Given the description of an element on the screen output the (x, y) to click on. 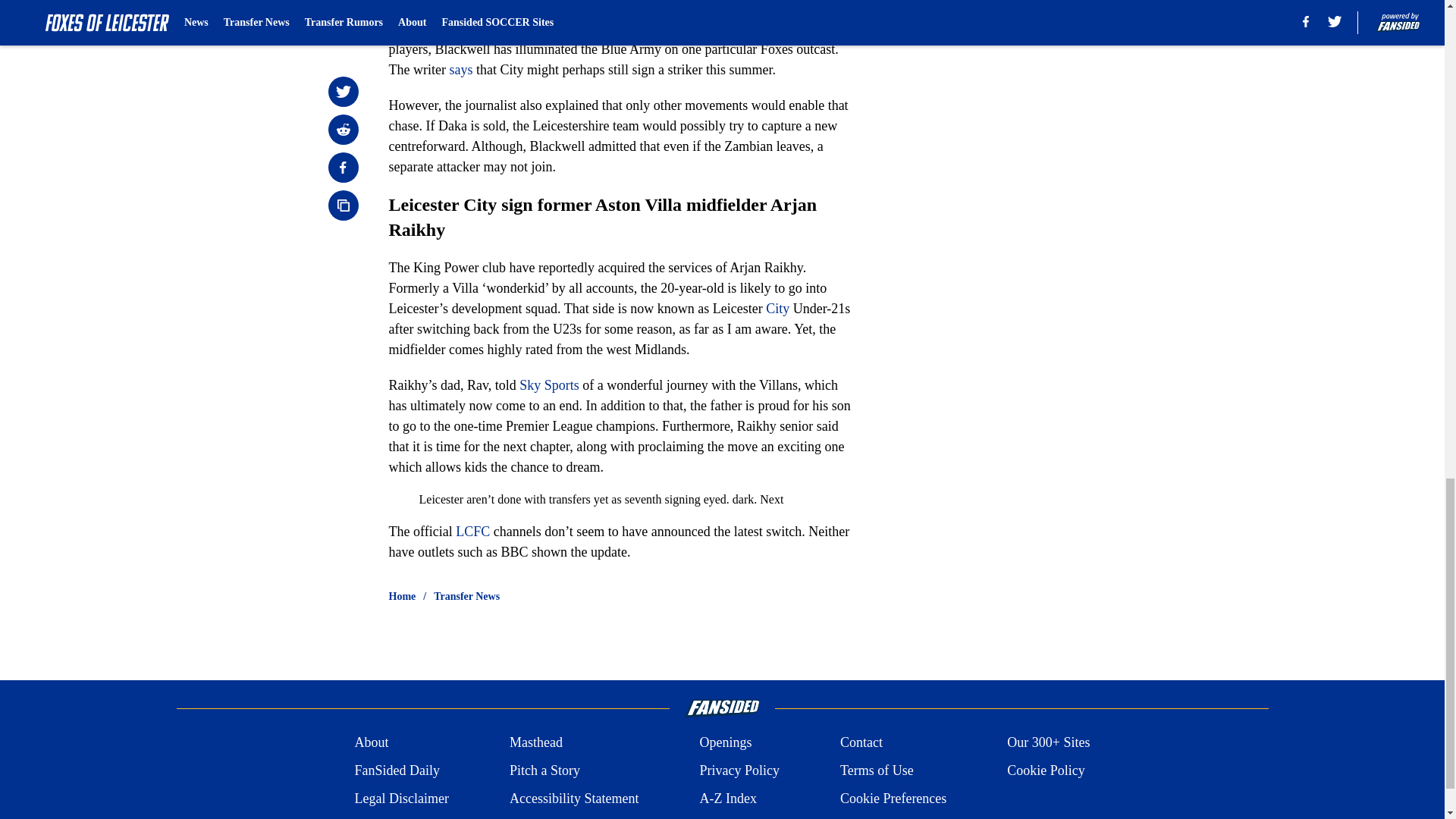
Home (401, 596)
Sky Sports (549, 385)
Terms of Use (877, 770)
FanSided Daily (396, 770)
Masthead (535, 742)
Cookie Preferences (893, 798)
Accessibility Statement (574, 798)
About (370, 742)
Contact (861, 742)
Transfer News (466, 596)
LCFC (472, 531)
Pitch a Story (544, 770)
A-Z Index (726, 798)
City (777, 308)
Legal Disclaimer (400, 798)
